Given the description of an element on the screen output the (x, y) to click on. 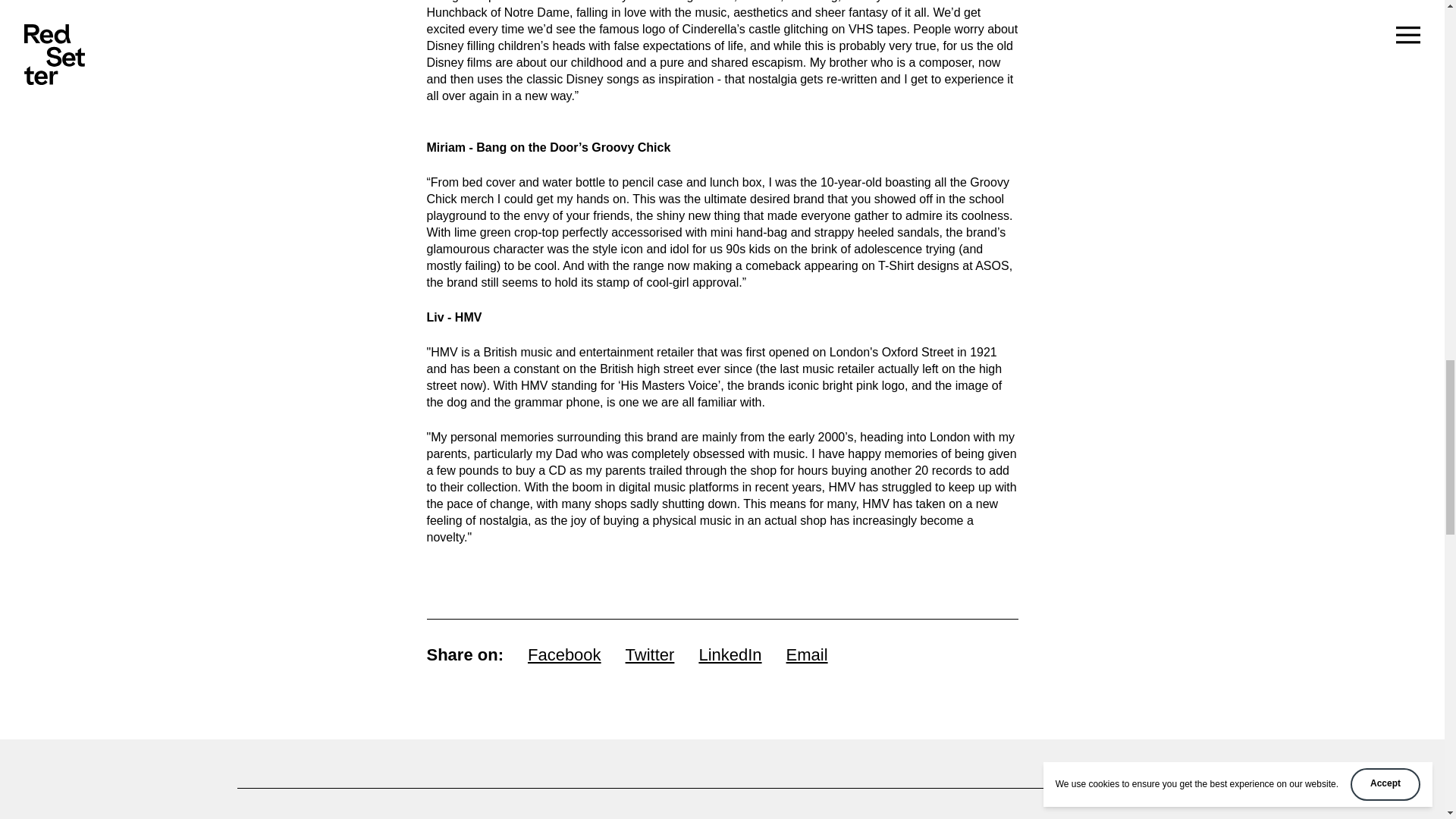
Facebook (564, 654)
Email (807, 654)
LinkedIn (729, 654)
Twitter (650, 654)
